Given the description of an element on the screen output the (x, y) to click on. 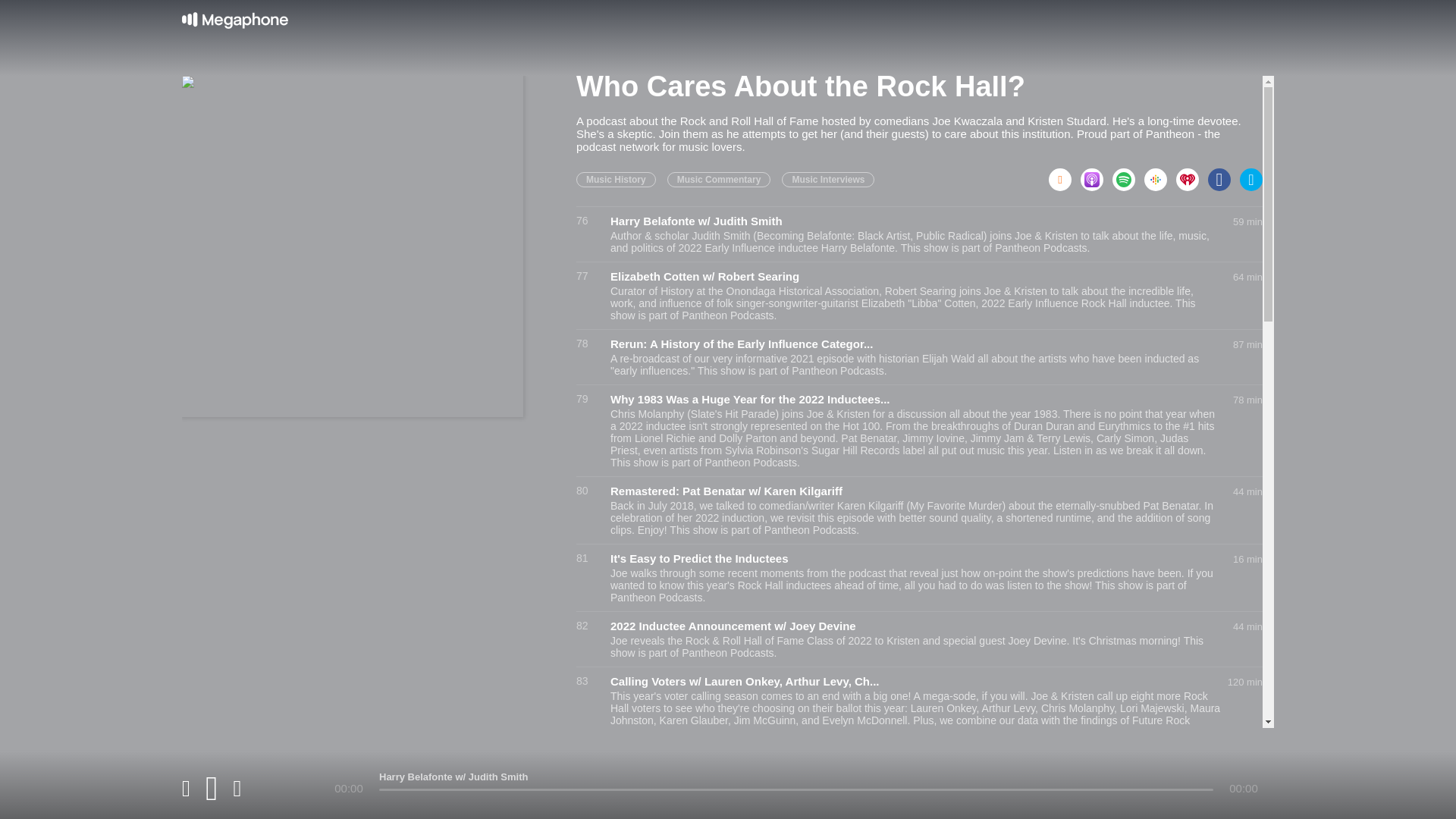
Share via Facebook (1224, 174)
Subscribe via Spotify (1128, 174)
Subscribe via iHeart (1192, 174)
Subscribe via RSS (1064, 174)
Subscribe via Apple Podcasts (1096, 174)
Share via Twitter (1251, 174)
Subscribe via Google Podcasts (1160, 174)
